Given the description of an element on the screen output the (x, y) to click on. 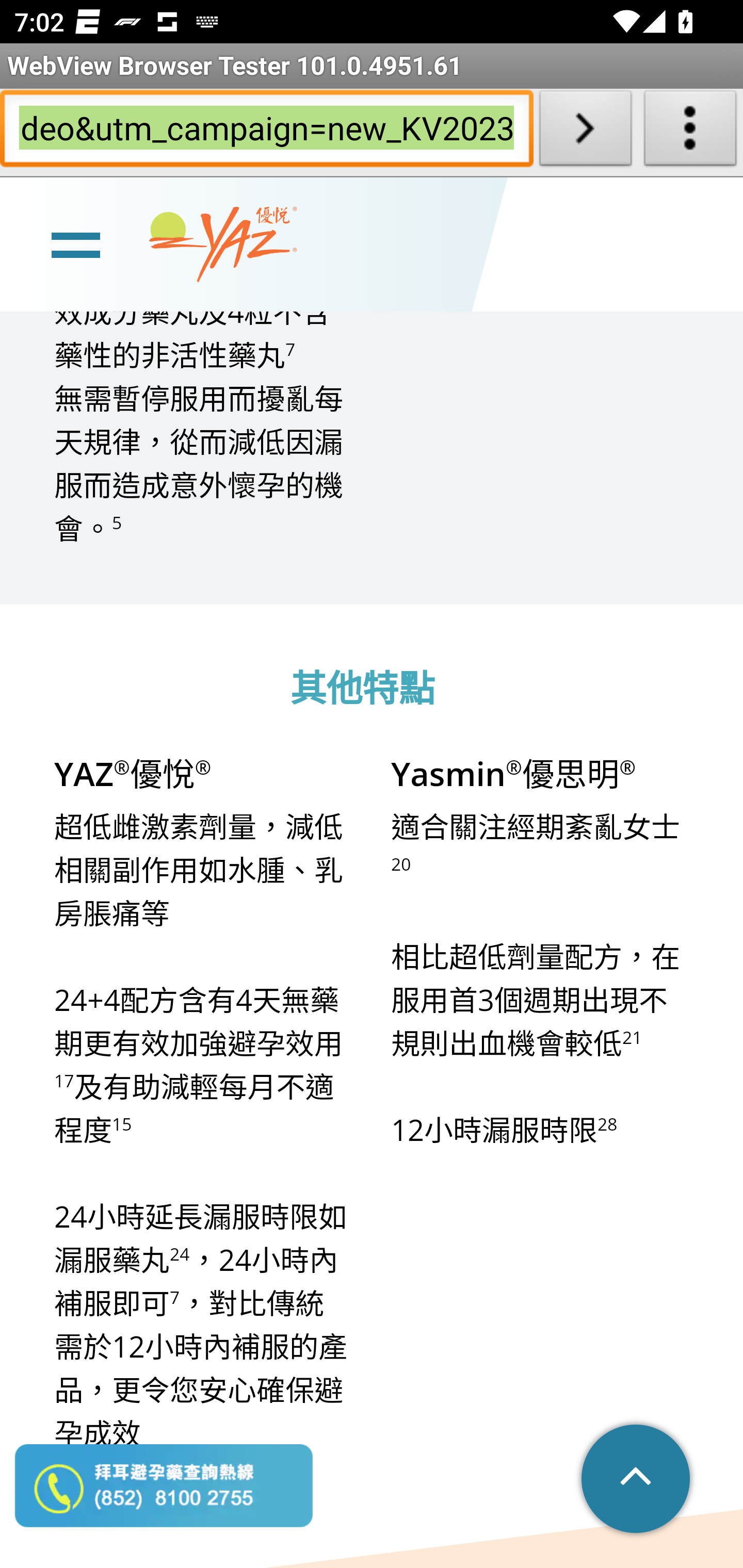
Load URL (585, 132)
About WebView (690, 132)
www.yaz (222, 244)
line Toggle burger menu (75, 245)
 (636, 1480)
